Given the description of an element on the screen output the (x, y) to click on. 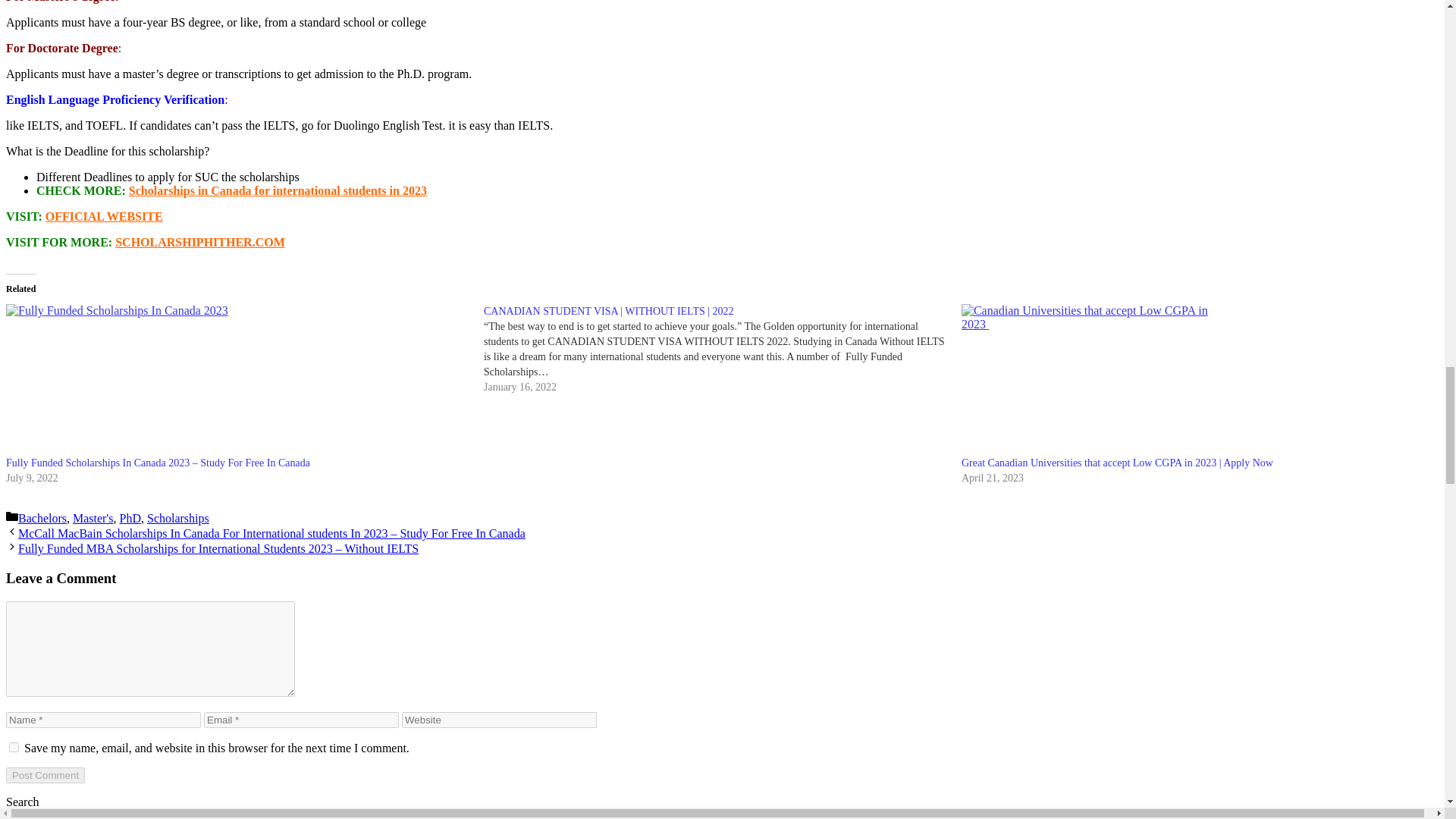
yes (13, 747)
Post Comment (44, 774)
